Given the description of an element on the screen output the (x, y) to click on. 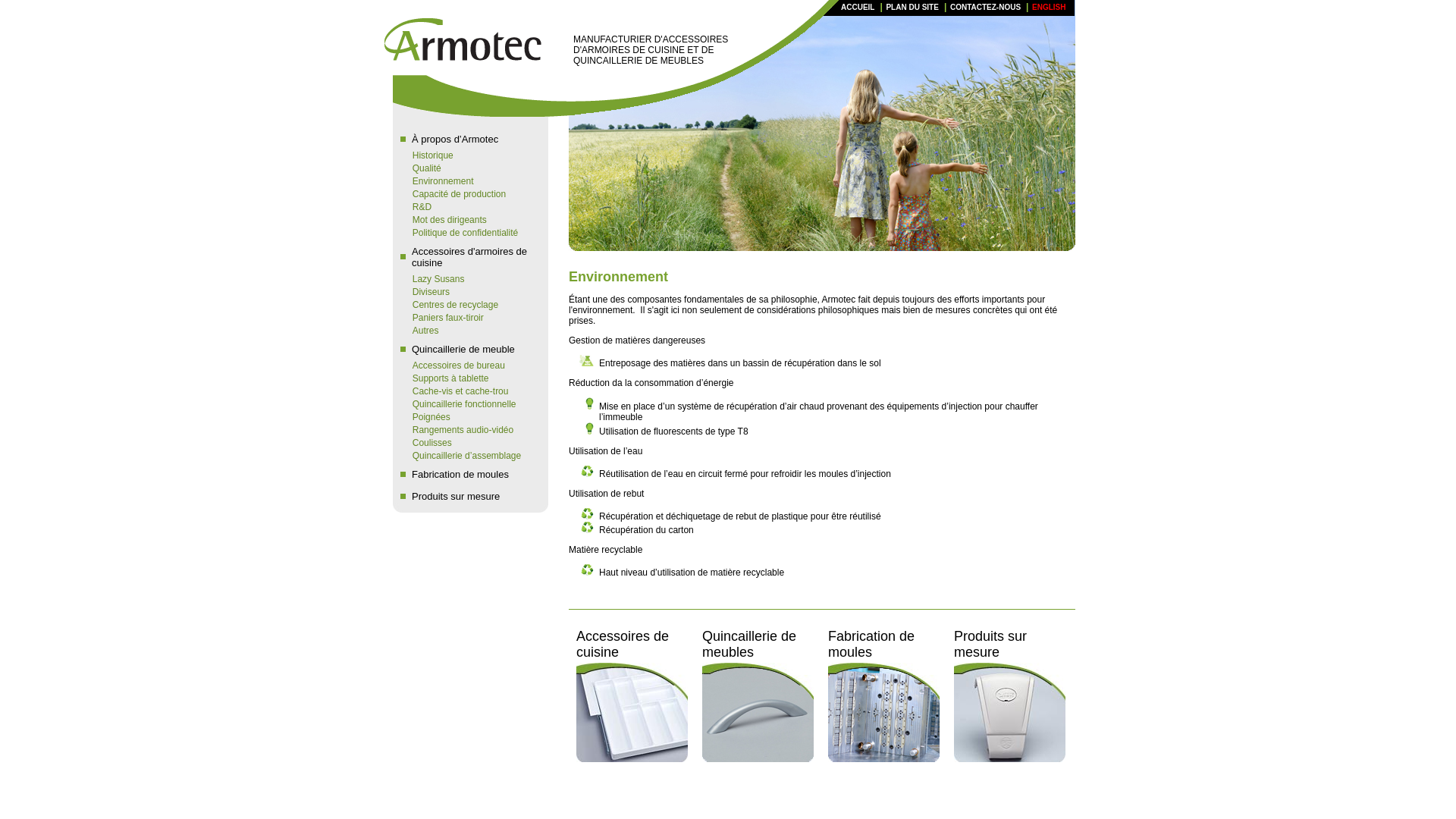
Diviseurs Element type: text (466, 291)
Lazy Susans Element type: text (466, 278)
Produits sur mesure Element type: text (989, 643)
Quincaillerie de meuble Element type: text (474, 348)
Produits sur mesure Element type: text (474, 495)
Centres de recyclage Element type: text (466, 304)
ACCUEIL Element type: text (857, 7)
Quincaillerie de meubles Element type: text (749, 643)
Accessoires de cuisine Element type: text (622, 643)
ENGLISH Element type: text (1048, 7)
Coulisses Element type: text (466, 442)
Accessoires de bureau Element type: text (466, 365)
R&D Element type: text (466, 206)
Fabrication de moules Element type: text (871, 643)
Cache-vis et cache-trou Element type: text (466, 390)
PLAN DU SITE Element type: text (911, 7)
Paniers faux-tiroir Element type: text (466, 317)
Environnement Element type: text (466, 180)
Quincaillerie fonctionnelle Element type: text (466, 403)
Accessoires d'armoires de cuisine Element type: text (474, 256)
Mot des dirigeants Element type: text (466, 219)
CONTACTEZ-NOUS Element type: text (985, 7)
Autres Element type: text (466, 330)
Fabrication de moules Element type: text (474, 473)
Historique Element type: text (466, 155)
